Given the description of an element on the screen output the (x, y) to click on. 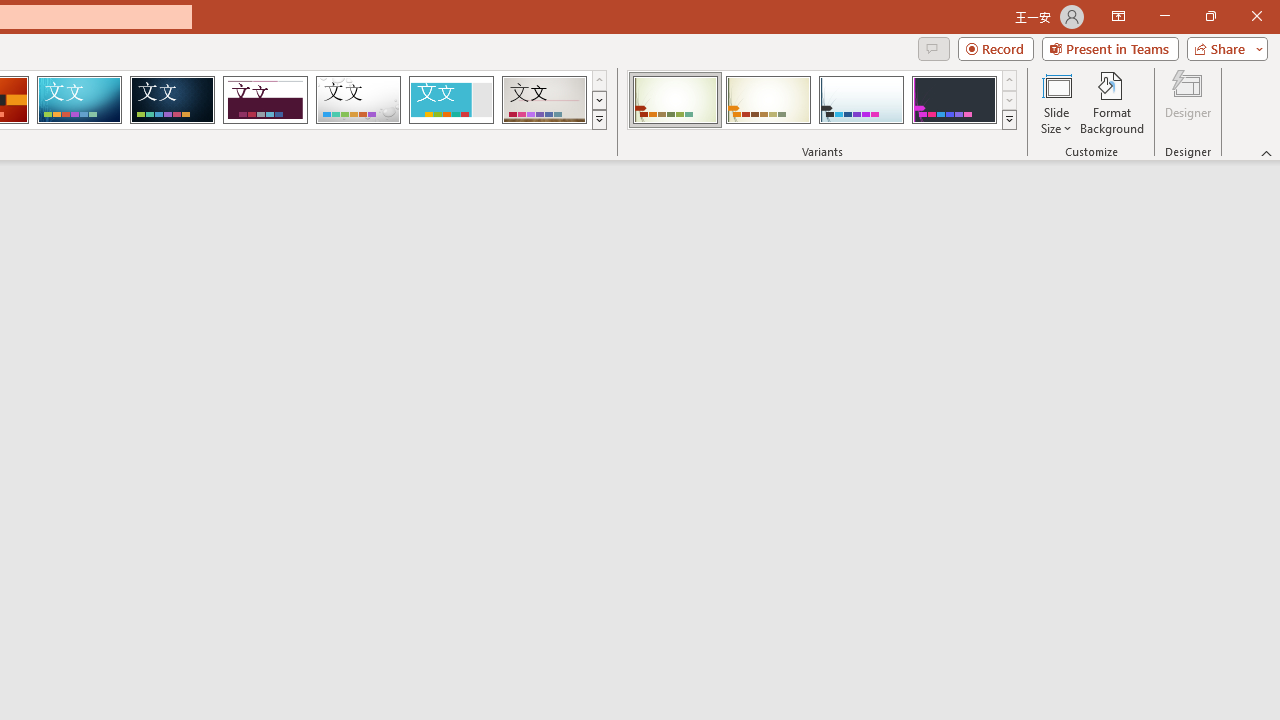
Wisp Variant 1 (674, 100)
Dividend Loading Preview... (265, 100)
Wisp Variant 4 (953, 100)
Format Background (1111, 102)
Frame Loading Preview... (450, 100)
Wisp Variant 3 (861, 100)
